Given the description of an element on the screen output the (x, y) to click on. 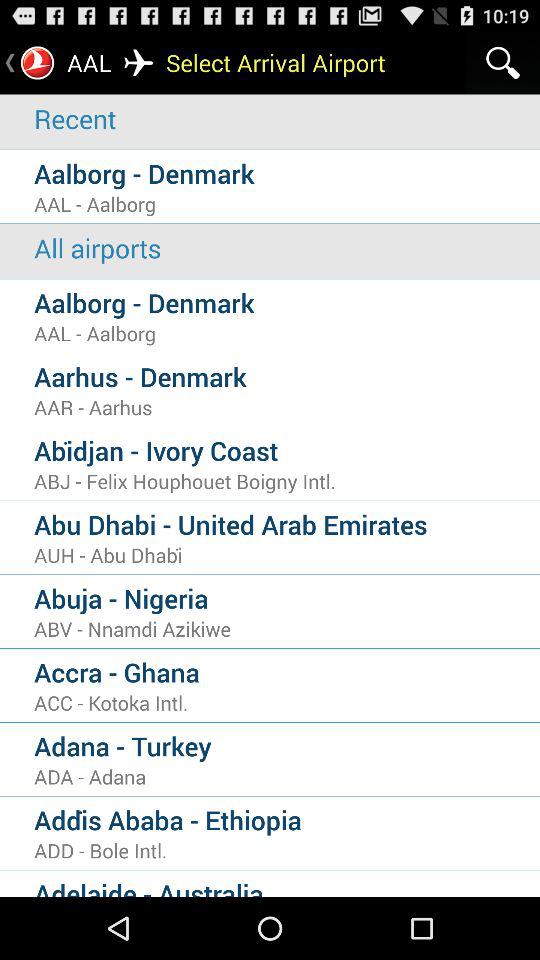
turn on the icon below the aar - aarhus icon (287, 450)
